Given the description of an element on the screen output the (x, y) to click on. 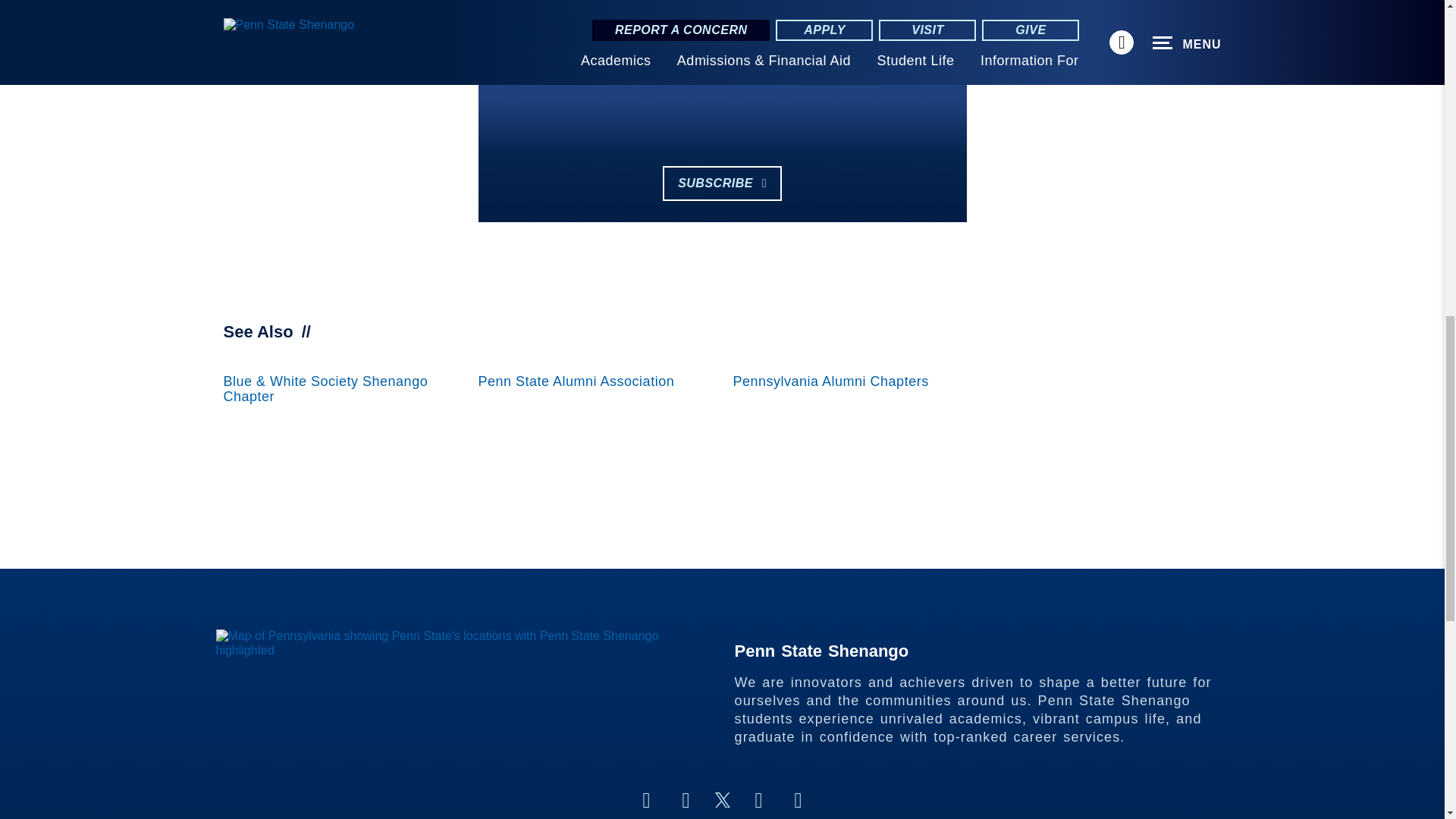
instagram (685, 800)
linkedin (758, 800)
youtube (797, 800)
facebook (645, 800)
